Given the description of an element on the screen output the (x, y) to click on. 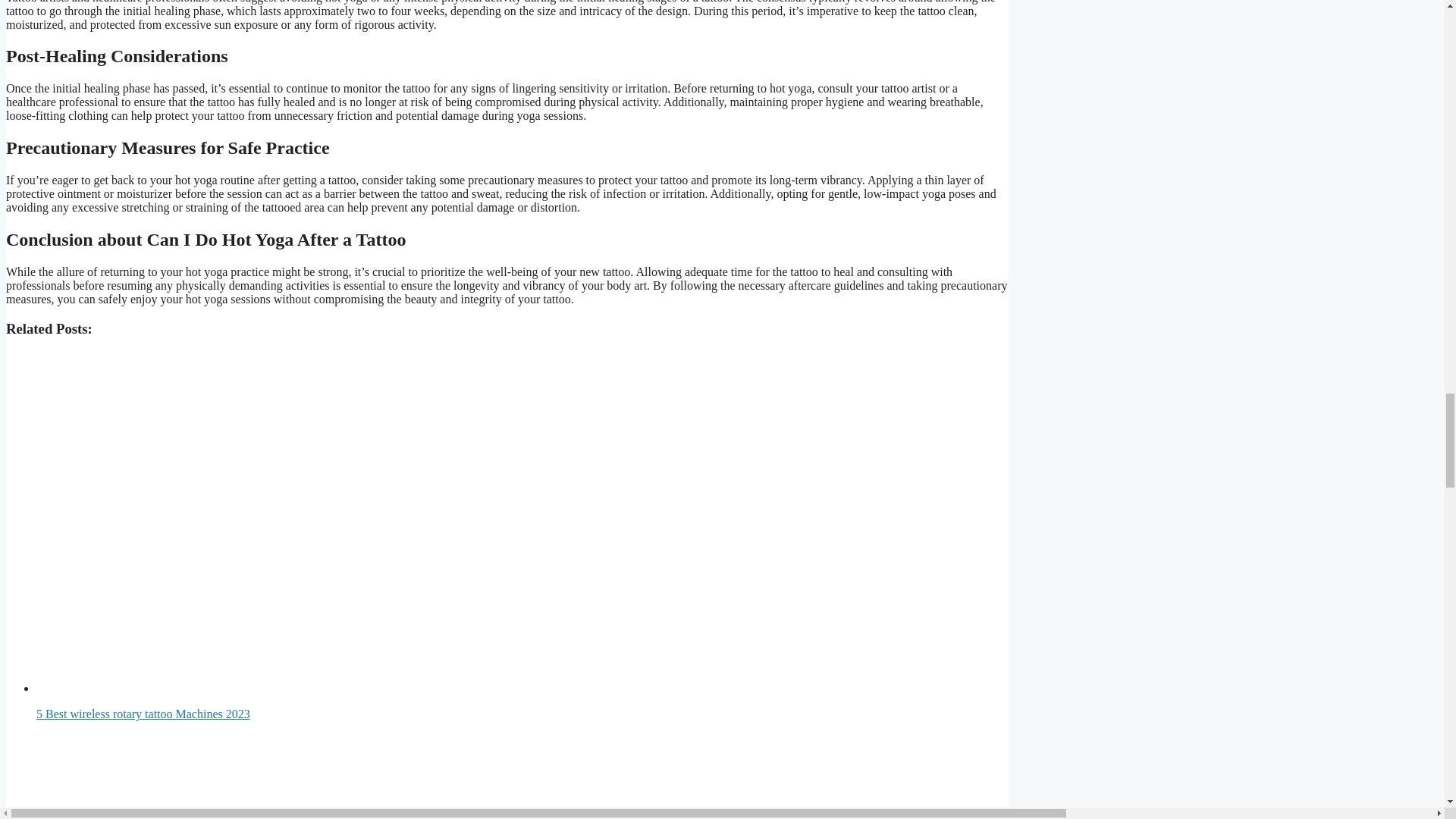
What Is CPS Tattoo? benefits and process (522, 776)
What Is CPS Tattoo? benefits and process (407, 776)
